Given the description of an element on the screen output the (x, y) to click on. 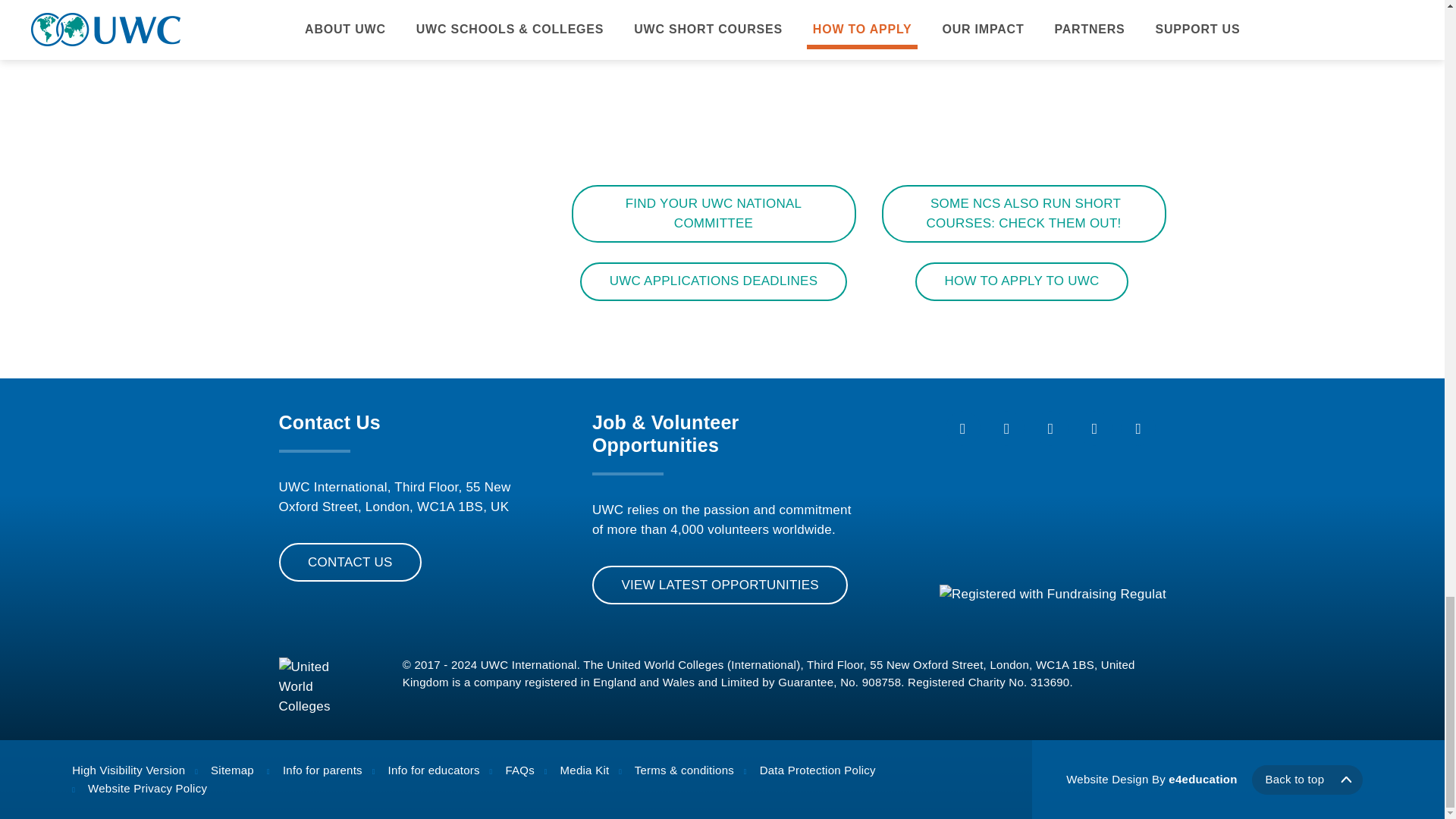
Instagram (1050, 428)
Twitter (1007, 428)
YouTube (1094, 428)
LinkedIn (1138, 428)
Facebook (961, 428)
